Given the description of an element on the screen output the (x, y) to click on. 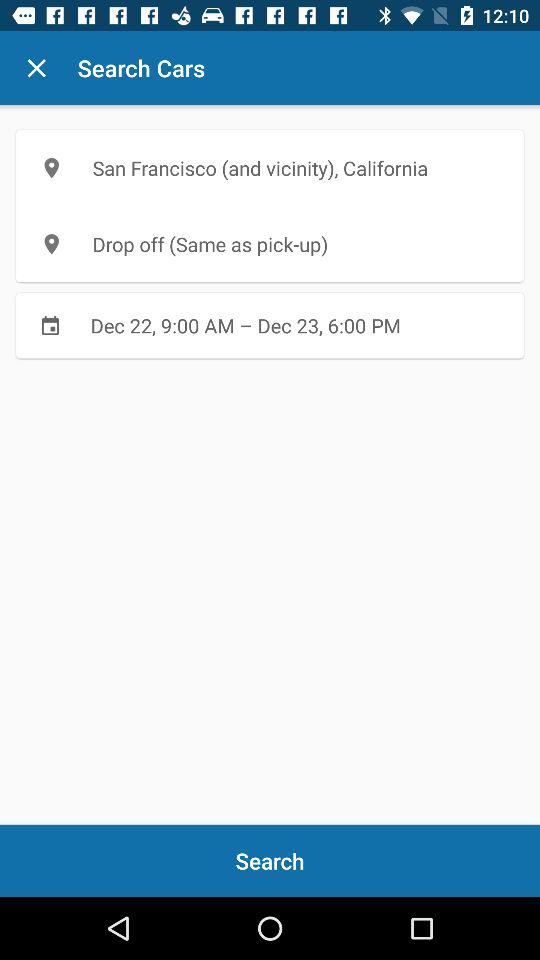
turn off the item below san francisco and item (269, 244)
